Given the description of an element on the screen output the (x, y) to click on. 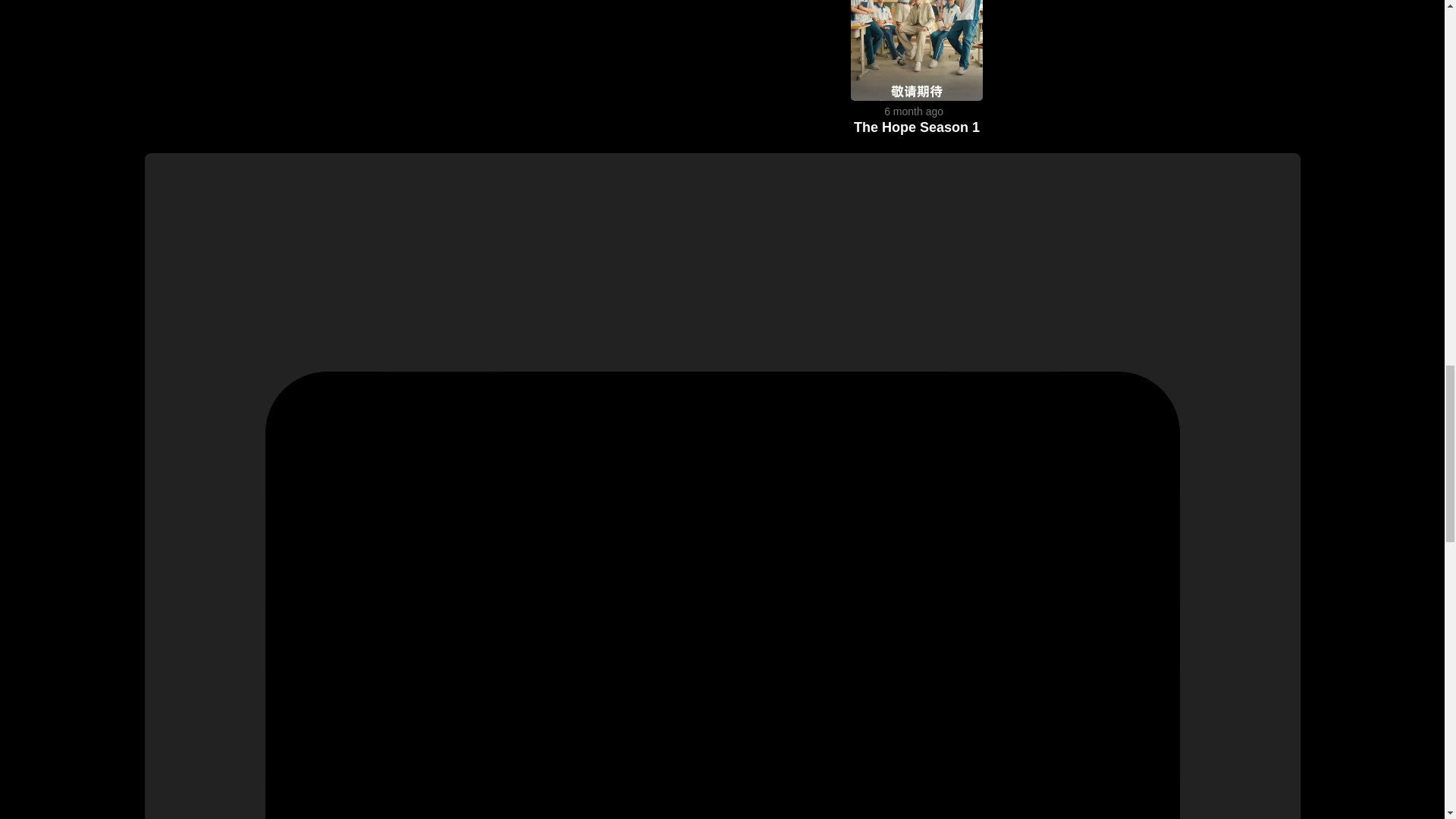
The Hope Season 1 (916, 96)
The Hope Season 1 (916, 127)
The Hope Season 1 (916, 127)
